Given the description of an element on the screen output the (x, y) to click on. 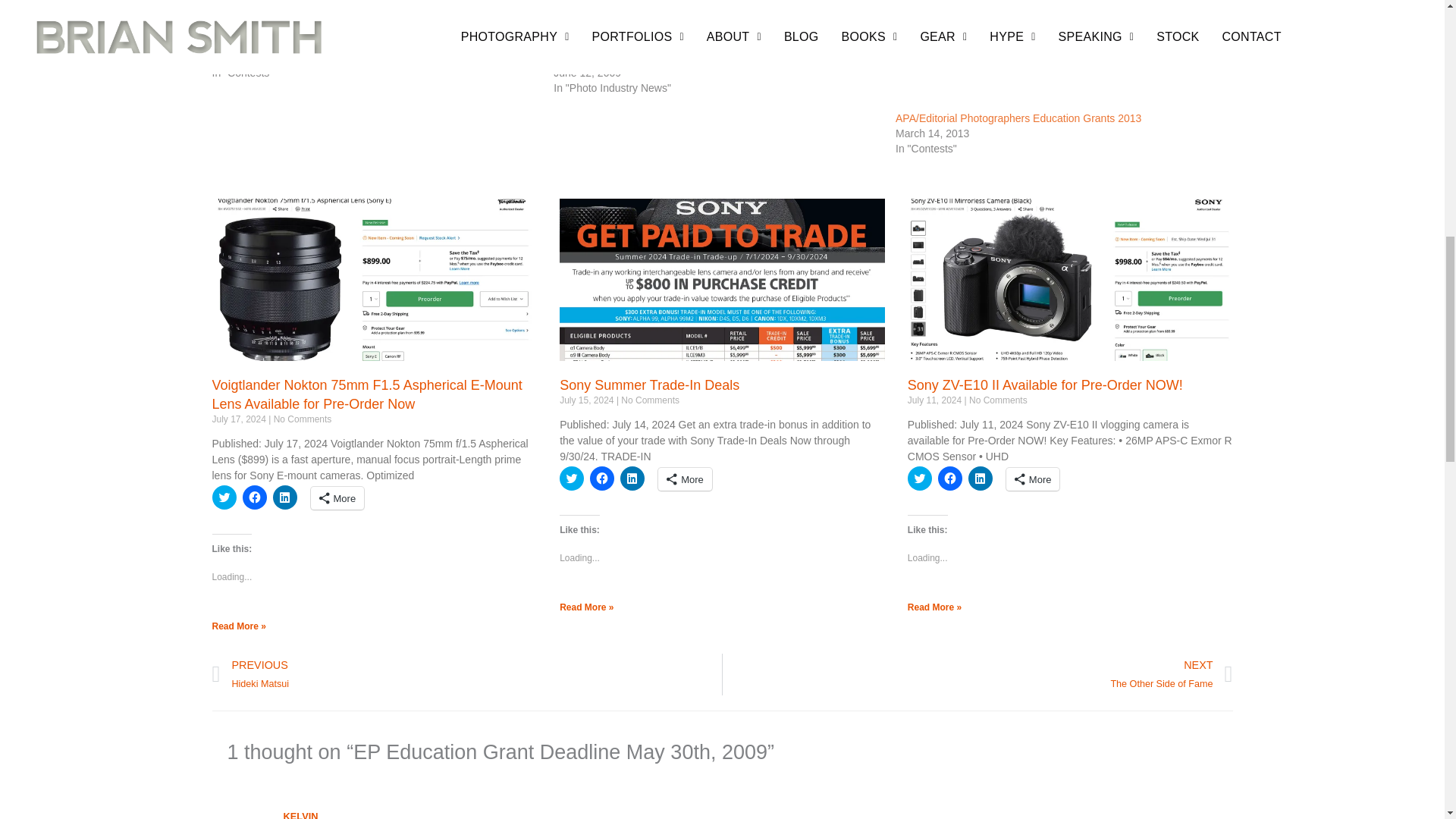
EP Education Grant Deadline Extended (383, 40)
